Given the description of an element on the screen output the (x, y) to click on. 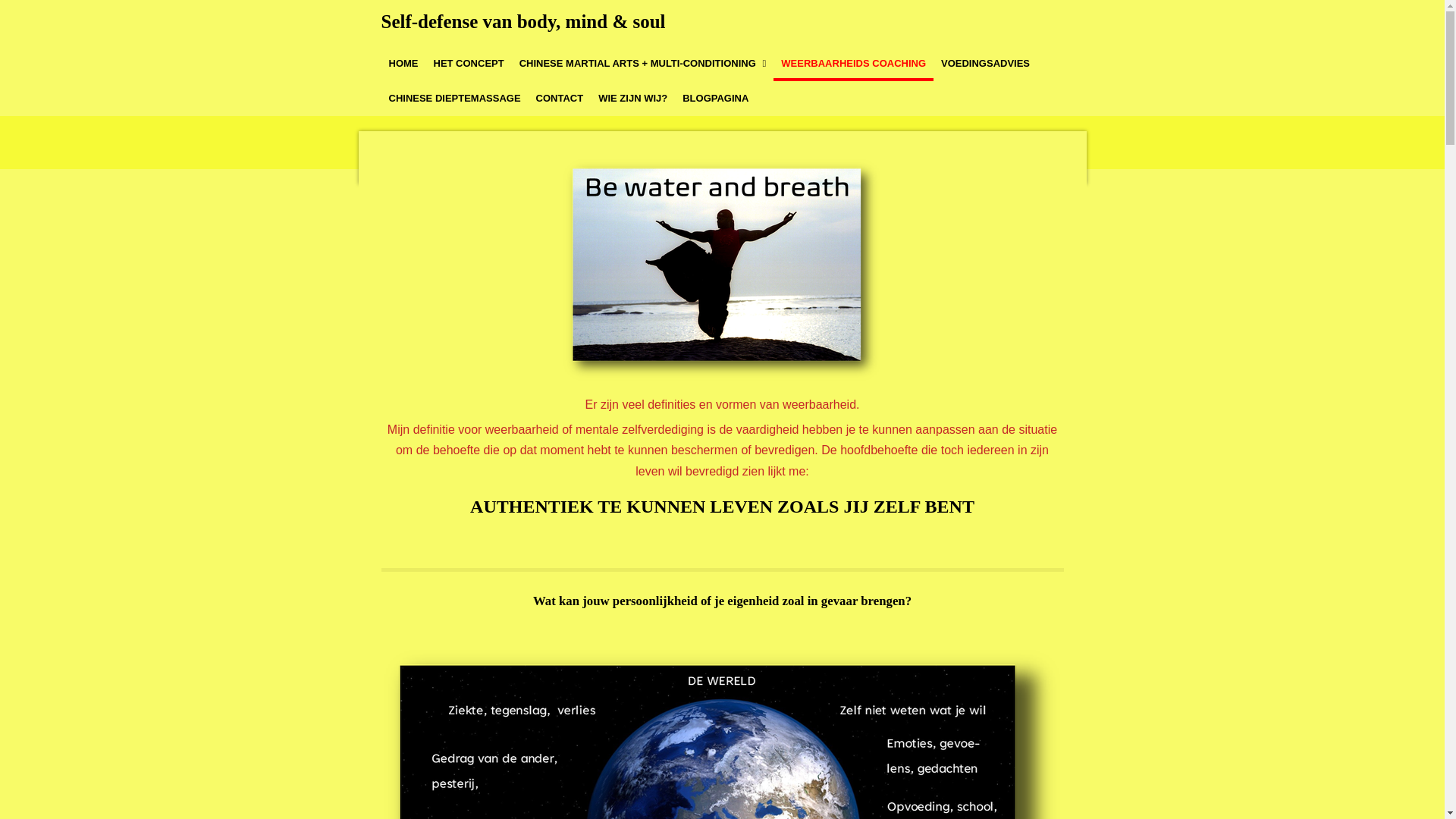
HET CONCEPT Element type: text (468, 63)
CHINESE MARTIAL ARTS + MULTI-CONDITIONING Element type: text (642, 63)
VOEDINGSADVIES Element type: text (985, 63)
WEERBAARHEIDS COACHING Element type: text (853, 63)
BLOGPAGINA Element type: text (715, 98)
Self-defense van body, mind & soul Element type: text (522, 21)
CHINESE DIEPTEMASSAGE Element type: text (453, 98)
WIE ZIJN WIJ? Element type: text (632, 98)
HOME Element type: text (402, 63)
CONTACT Element type: text (559, 98)
